Given the description of an element on the screen output the (x, y) to click on. 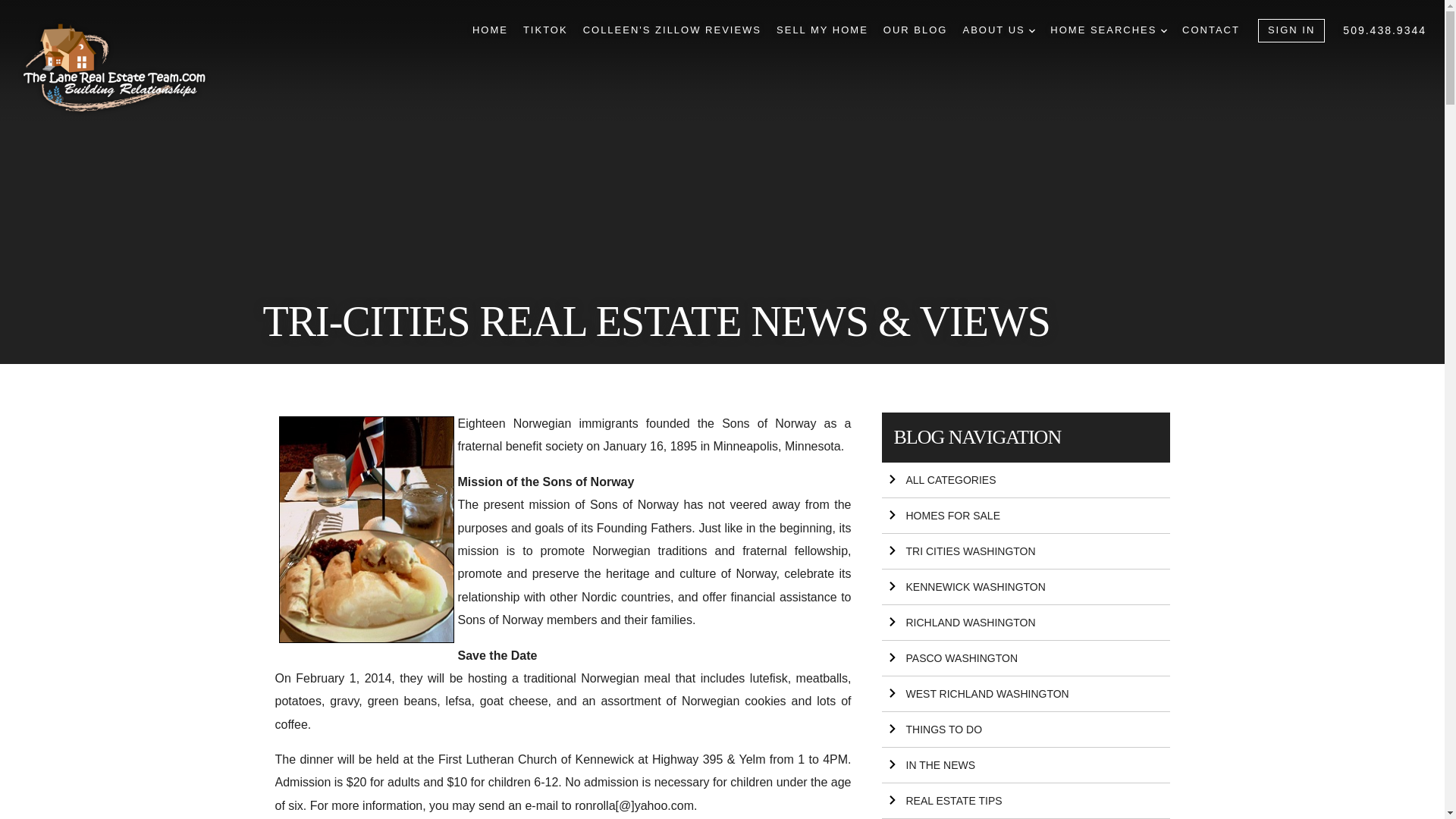
SELL MY HOME (821, 30)
DROPDOWN ARROW (1163, 30)
CONTACT (1211, 30)
OUR BLOG (915, 30)
ABOUT US DROPDOWN ARROW (998, 30)
TIKTOK (544, 30)
HOME SEARCHES DROPDOWN ARROW (1108, 30)
DROPDOWN ARROW (1032, 30)
COLLEEN'S ZILLOW REVIEWS (672, 30)
HOME (489, 30)
